Given the description of an element on the screen output the (x, y) to click on. 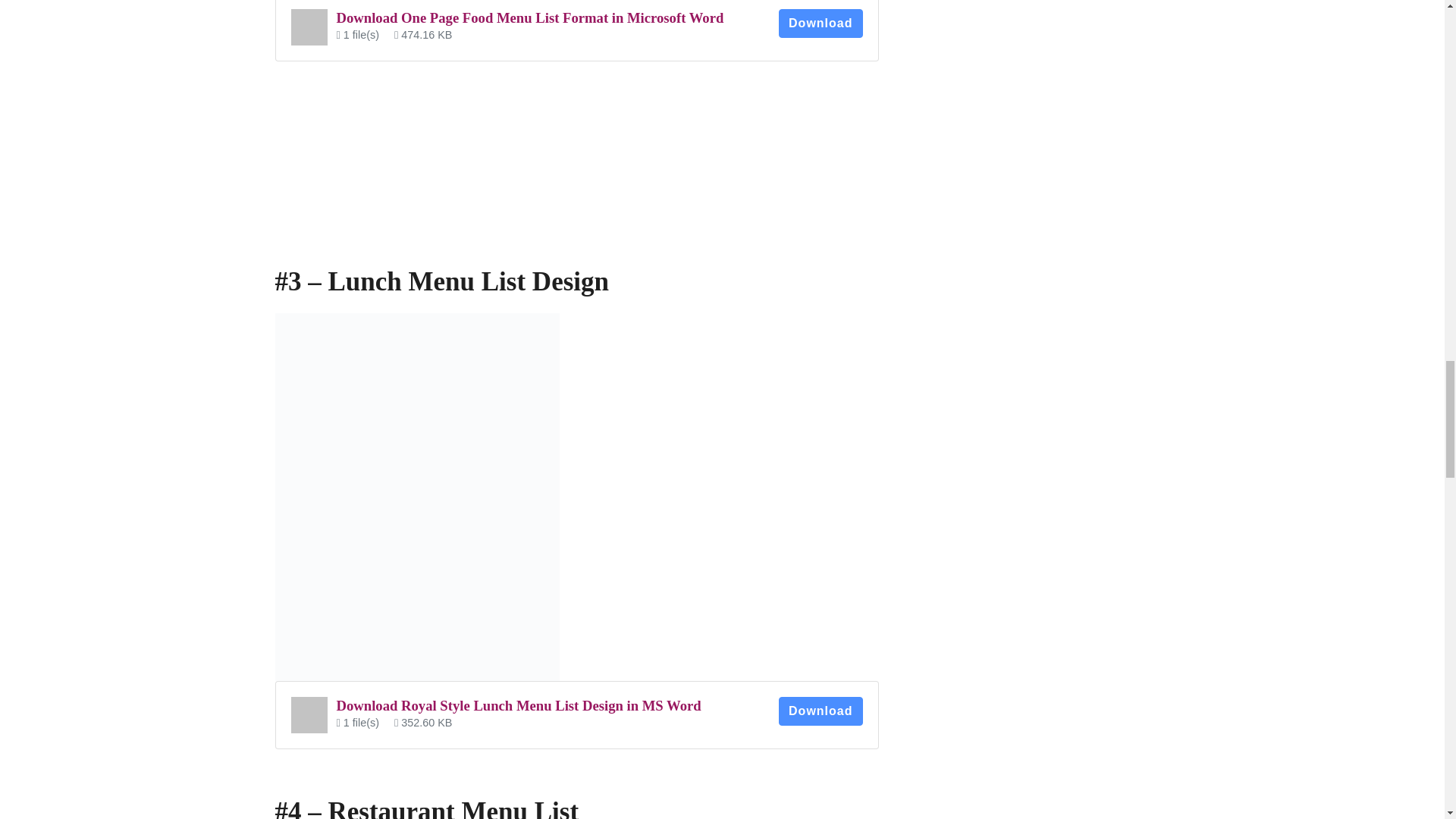
Download (819, 710)
Download One Page Food Menu List Format in Microsoft Word (529, 17)
Download Royal Style Lunch Menu List Design in MS Word (518, 705)
Download (819, 23)
